Given the description of an element on the screen output the (x, y) to click on. 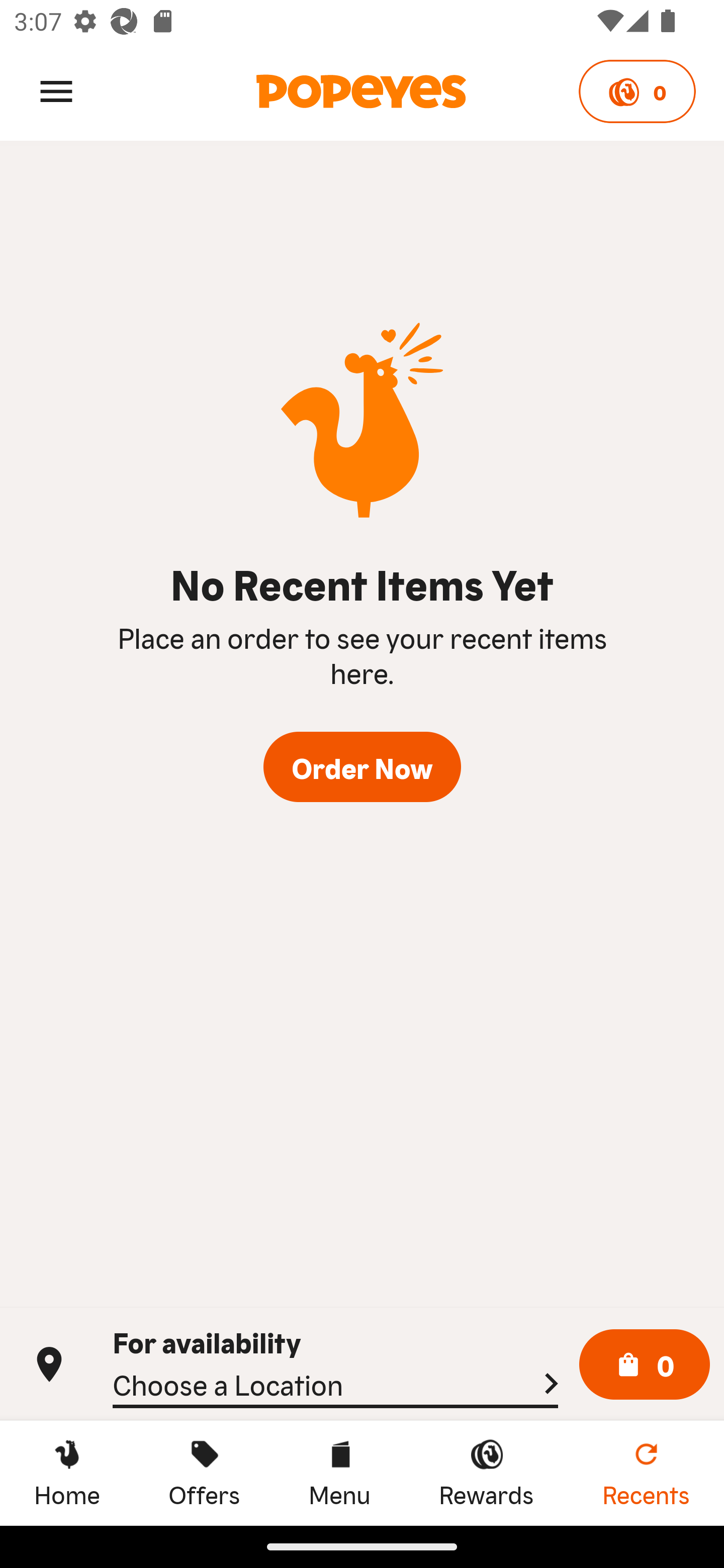
Menu  (56, 90)
0 Points 0 (636, 91)
Order Now (362, 767)
0 Cart total  0 (644, 1364)
Home Home Home (66, 1472)
Offers Offers Offers (203, 1472)
Menu Menu Menu (339, 1472)
Rewards Rewards Rewards (486, 1472)
